Given the description of an element on the screen output the (x, y) to click on. 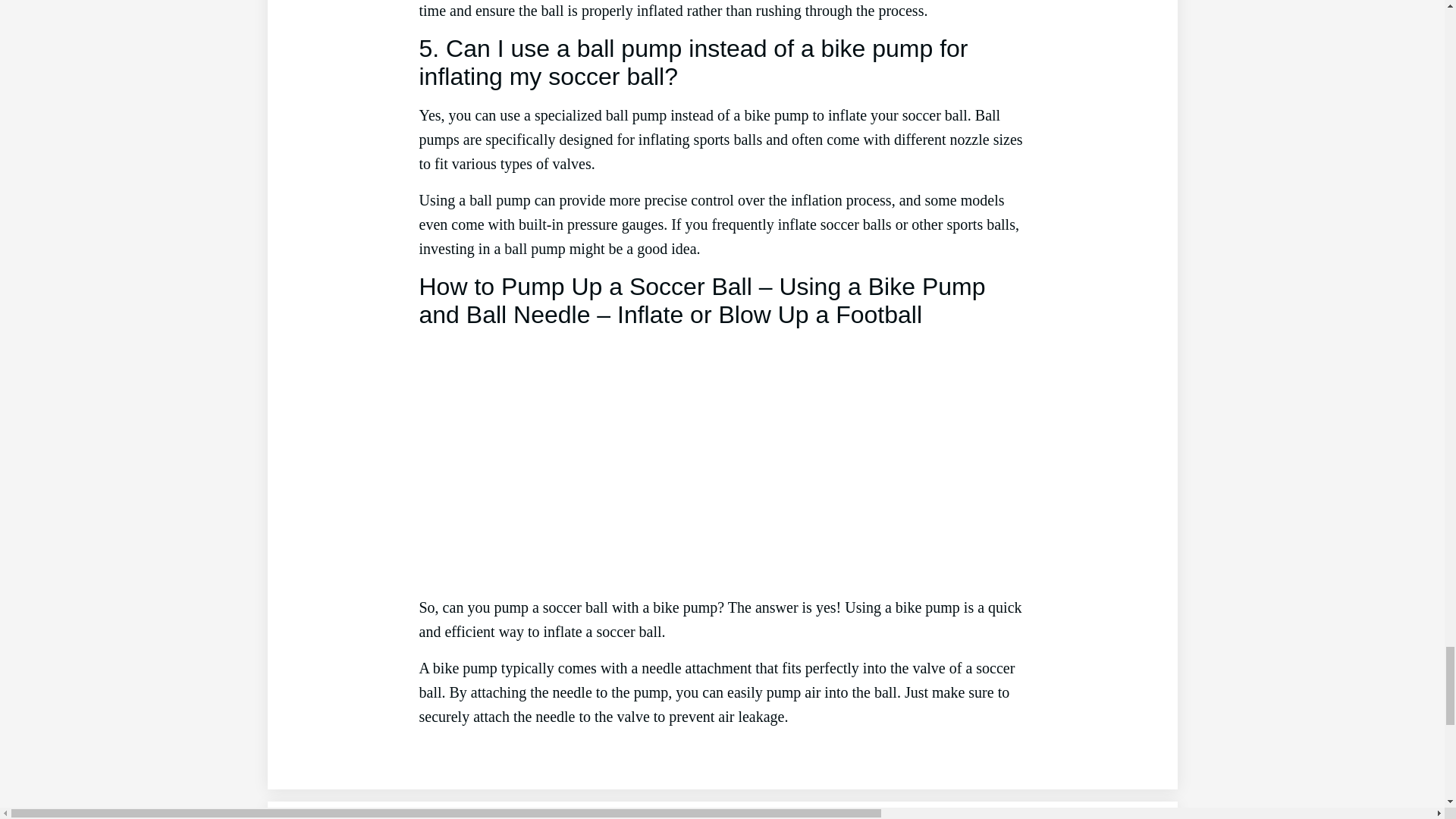
Previous Post (333, 817)
Next Post (1122, 817)
